Given the description of an element on the screen output the (x, y) to click on. 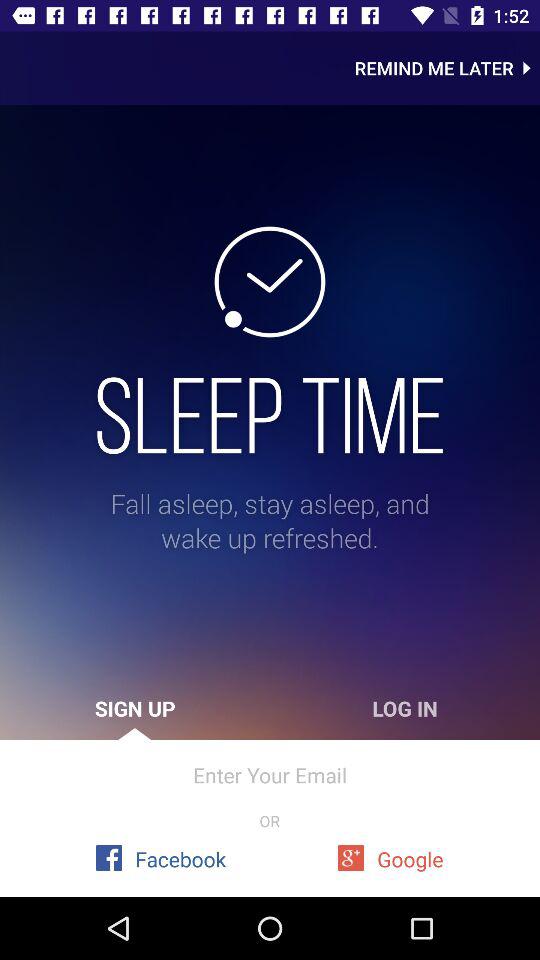
scroll until the sleep time icon (270, 415)
